Given the description of an element on the screen output the (x, y) to click on. 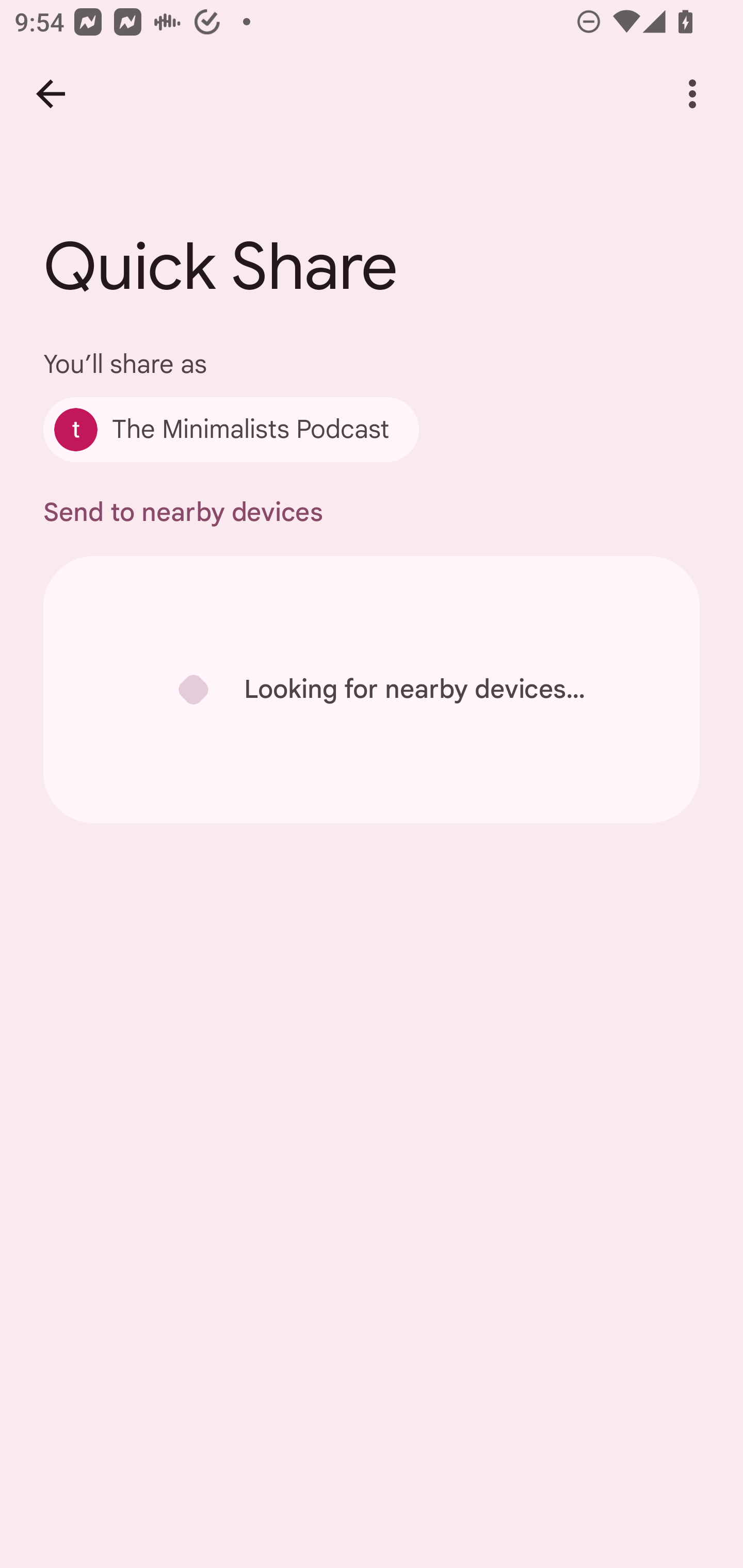
Back (50, 93)
More (692, 93)
The Minimalists Podcast (231, 429)
